Given the description of an element on the screen output the (x, y) to click on. 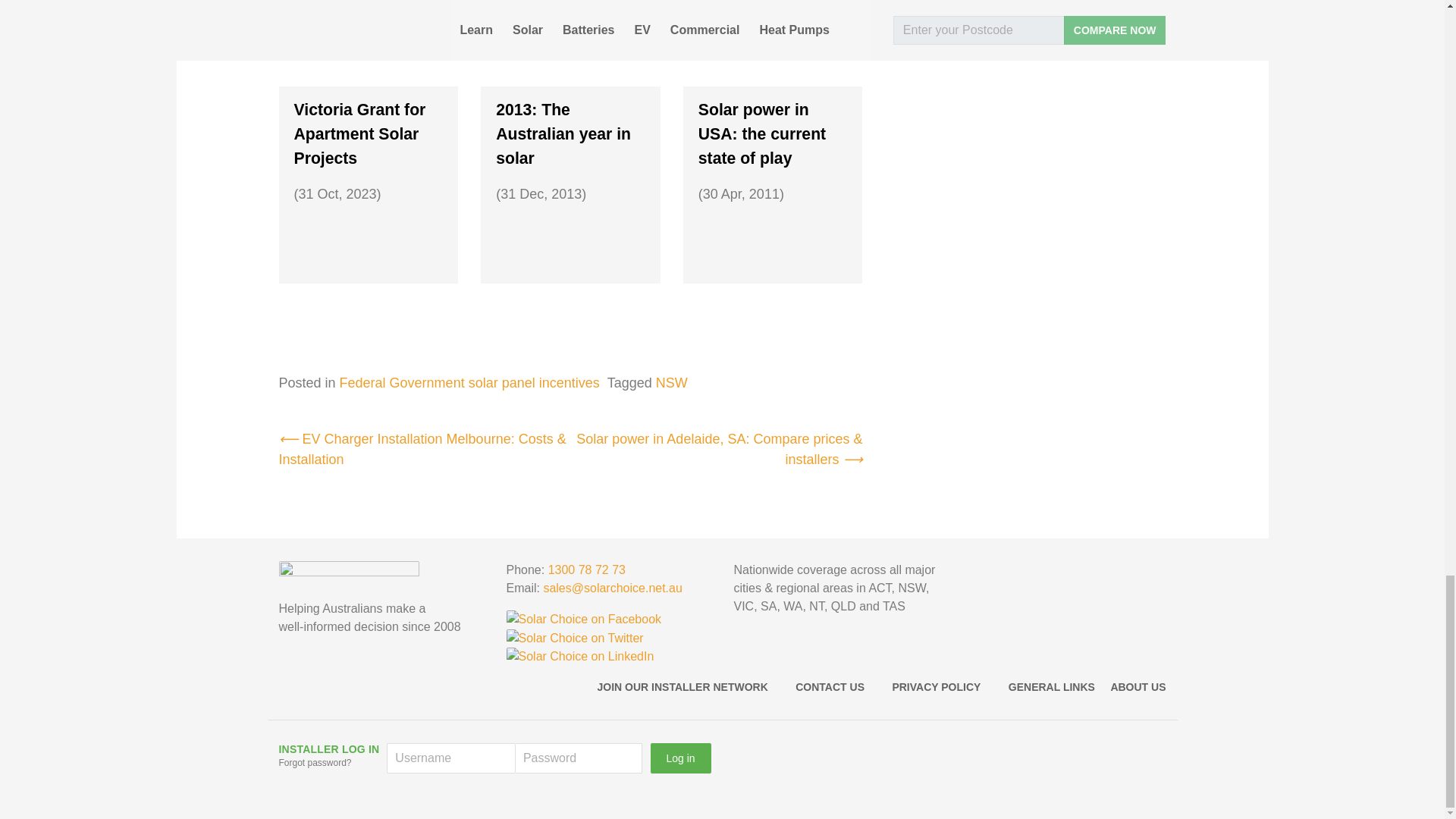
Solar power in USA: the current state of play (772, 133)
Log in (680, 757)
Victoria Grant for Apartment Solar Projects (369, 133)
2013: The Australian year in solar (570, 133)
